Given the description of an element on the screen output the (x, y) to click on. 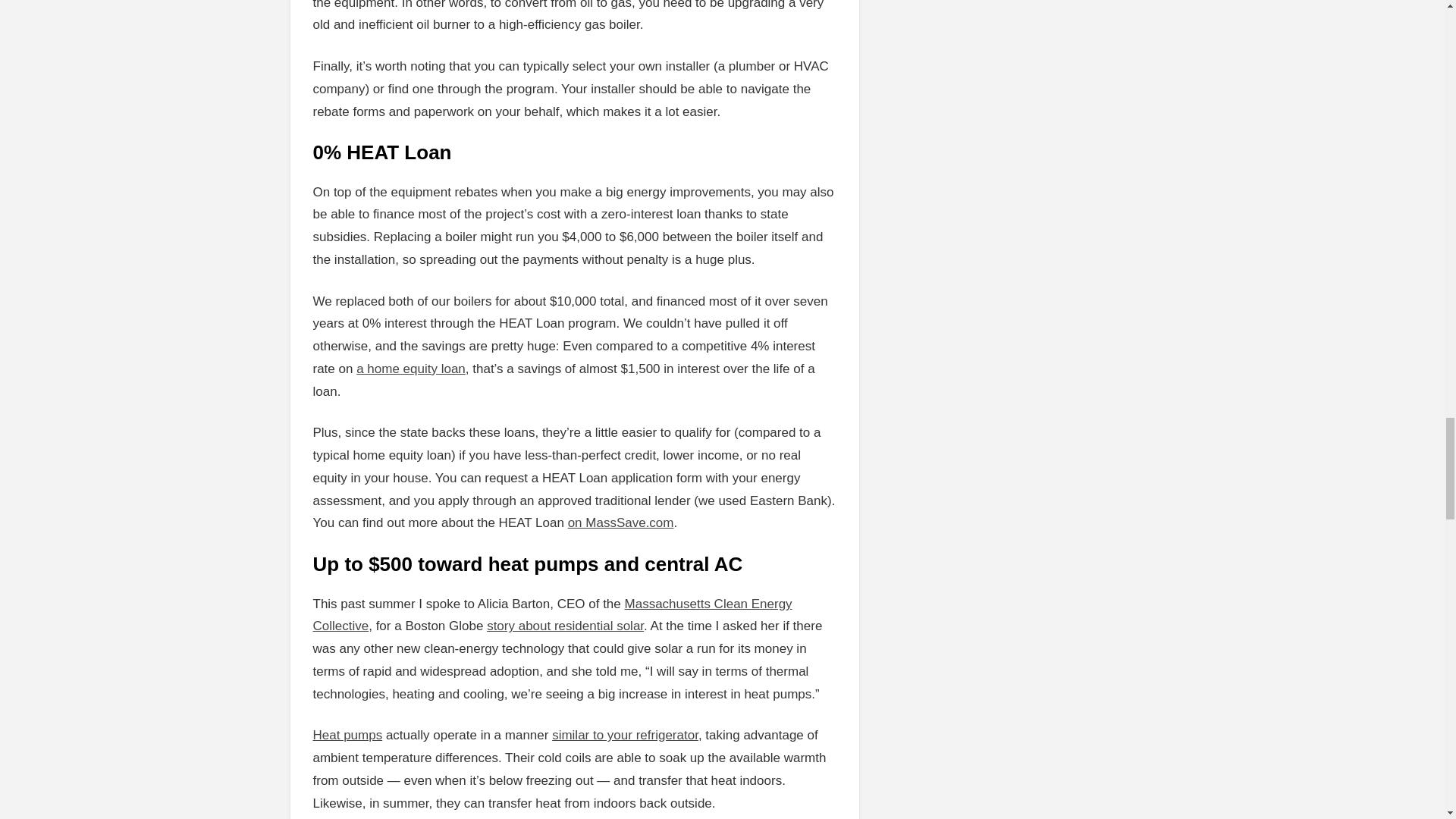
story about residential solar (564, 626)
Heat pumps (347, 735)
similar to your refrigerator (624, 735)
Massachusetts Clean Energy Collective (552, 614)
on MassSave.com (620, 522)
a home equity loan (410, 368)
